Given the description of an element on the screen output the (x, y) to click on. 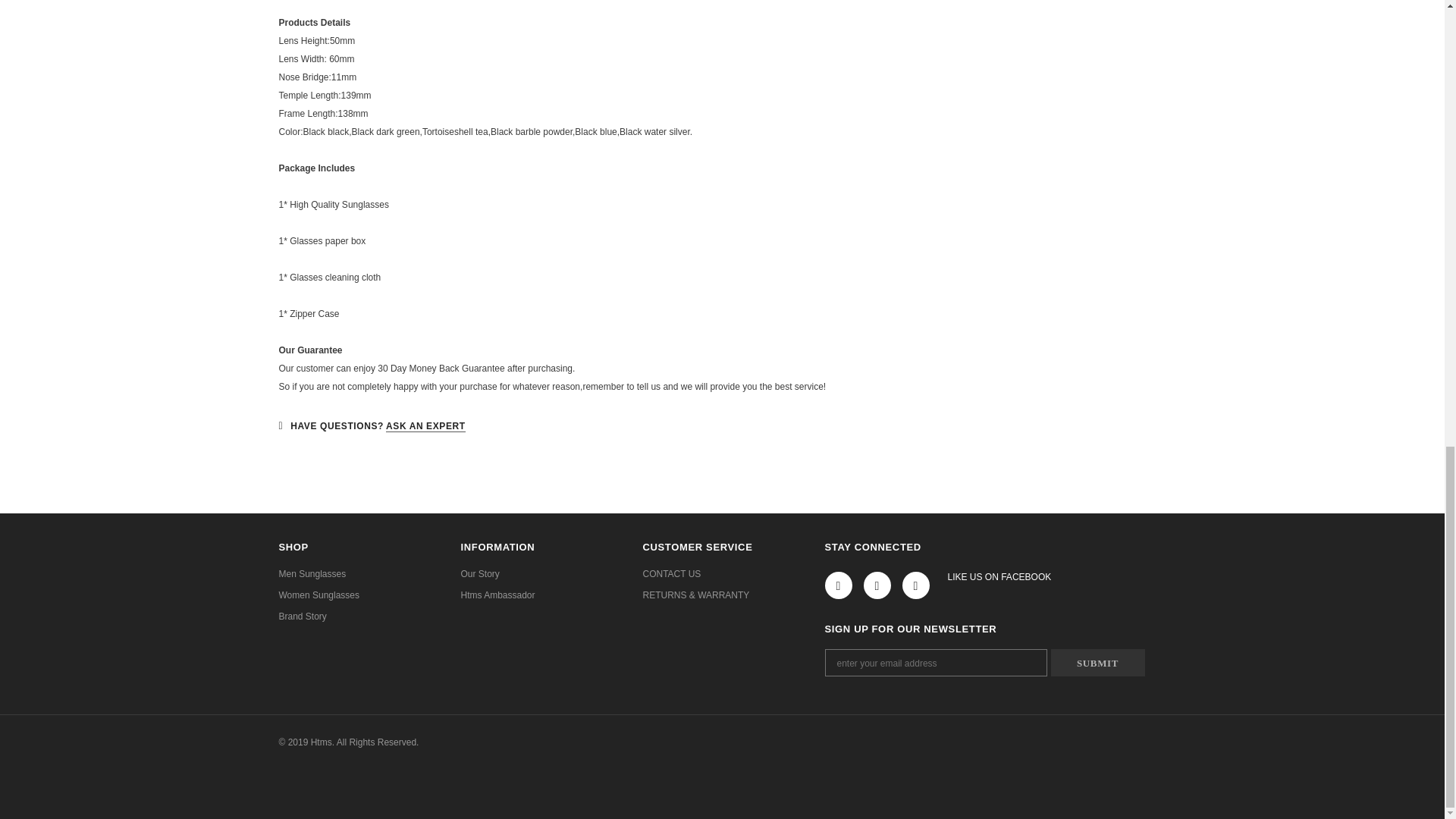
Submit (1097, 662)
